Given the description of an element on the screen output the (x, y) to click on. 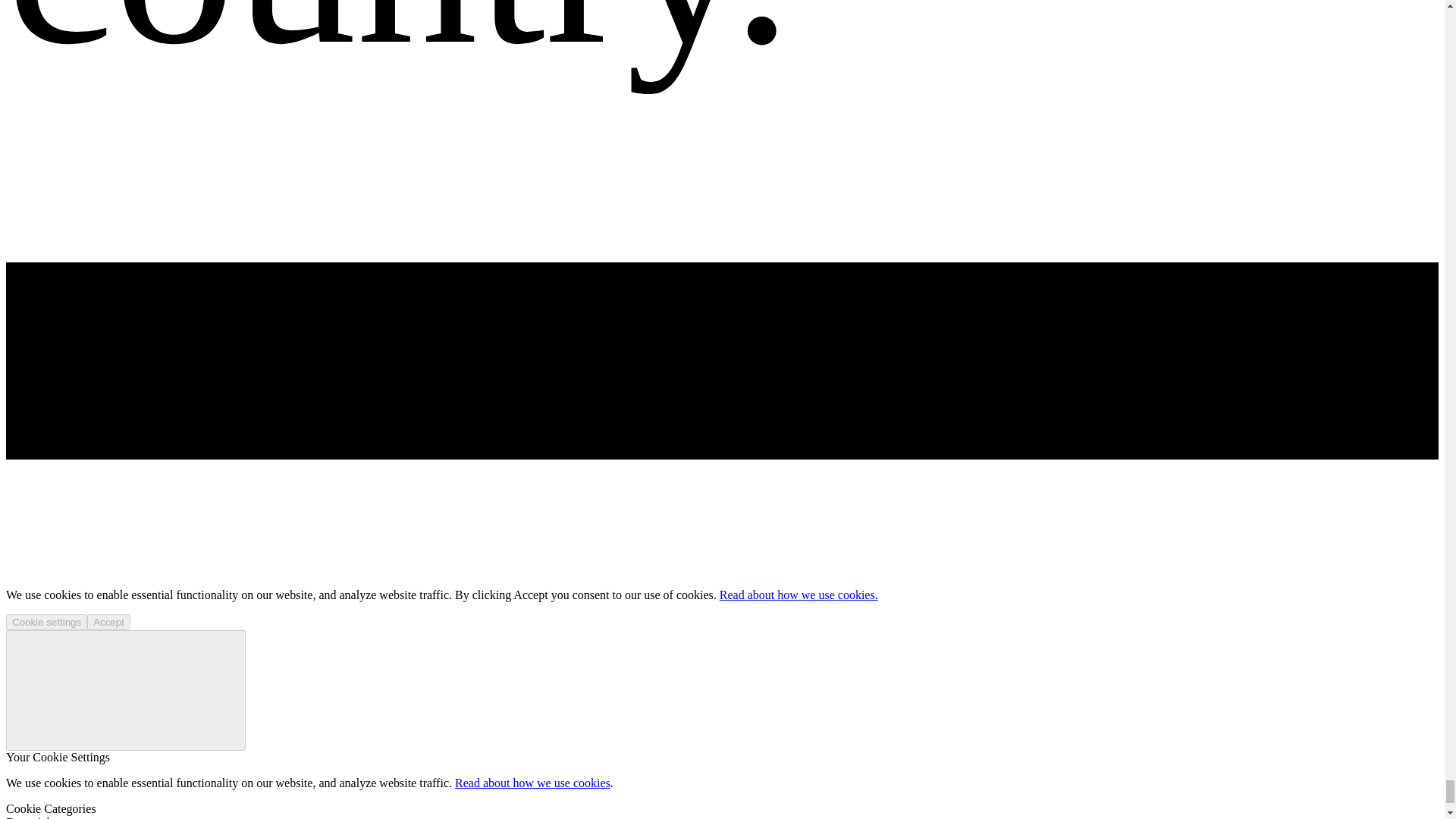
Read about how we use cookies (532, 782)
Accept (109, 621)
Read about how we use cookies. (798, 594)
845 825 3115 (38, 338)
Cookie settings (46, 621)
